Given the description of an element on the screen output the (x, y) to click on. 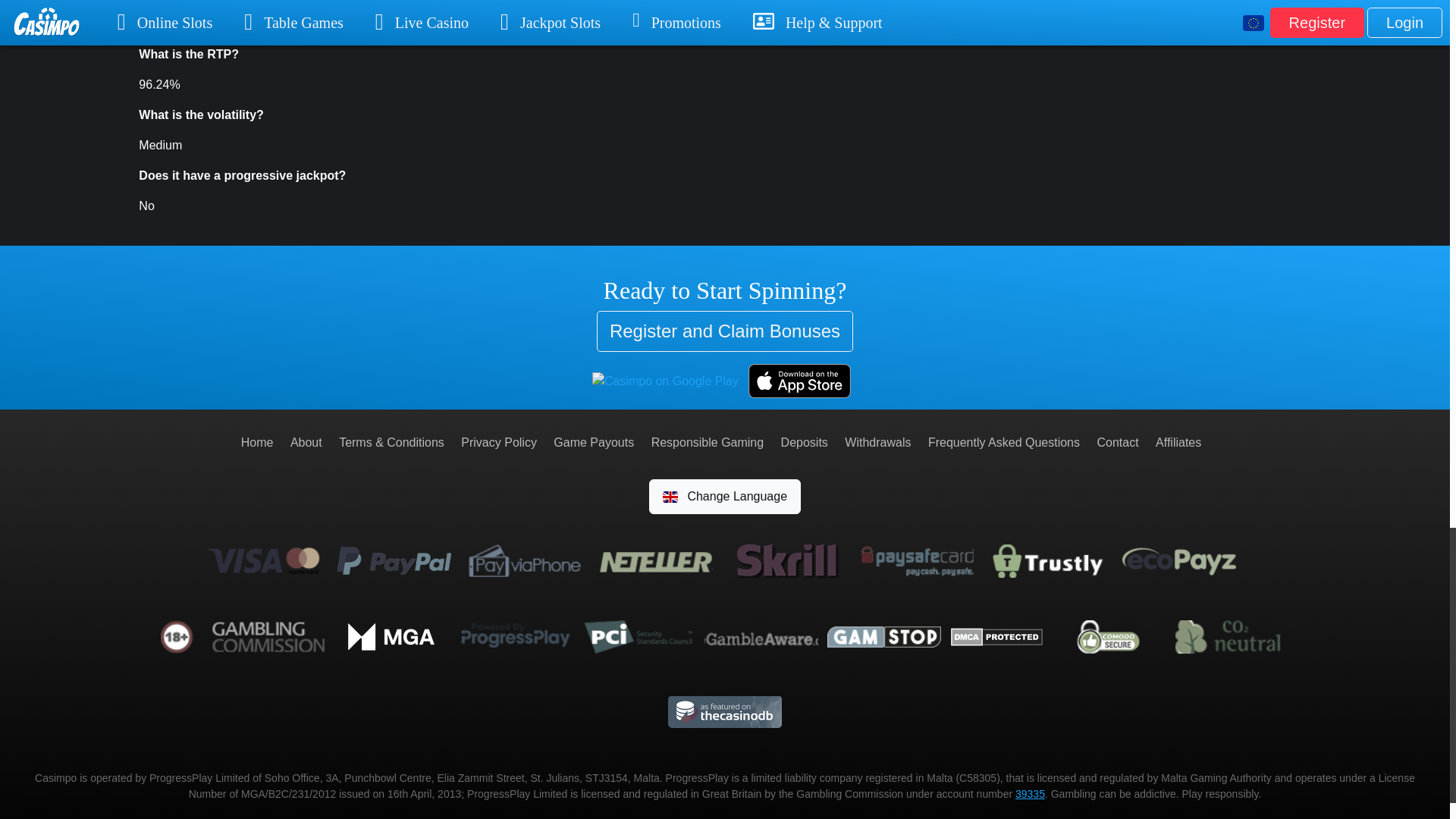
Contact (1117, 441)
Withdrawals (877, 441)
Frequently Asked Questions (1004, 441)
Register and Claim Bonuses (724, 331)
About (305, 441)
TheCasinoDB Casino Sites (724, 710)
TheCasinoDB Casino Sites (724, 712)
Responsible Gaming (707, 441)
Affiliates (1178, 441)
Deposits (804, 441)
DMCA.com Protection Status (996, 635)
Game Payouts (593, 441)
Home (257, 441)
Privacy Policy (499, 441)
